Given the description of an element on the screen output the (x, y) to click on. 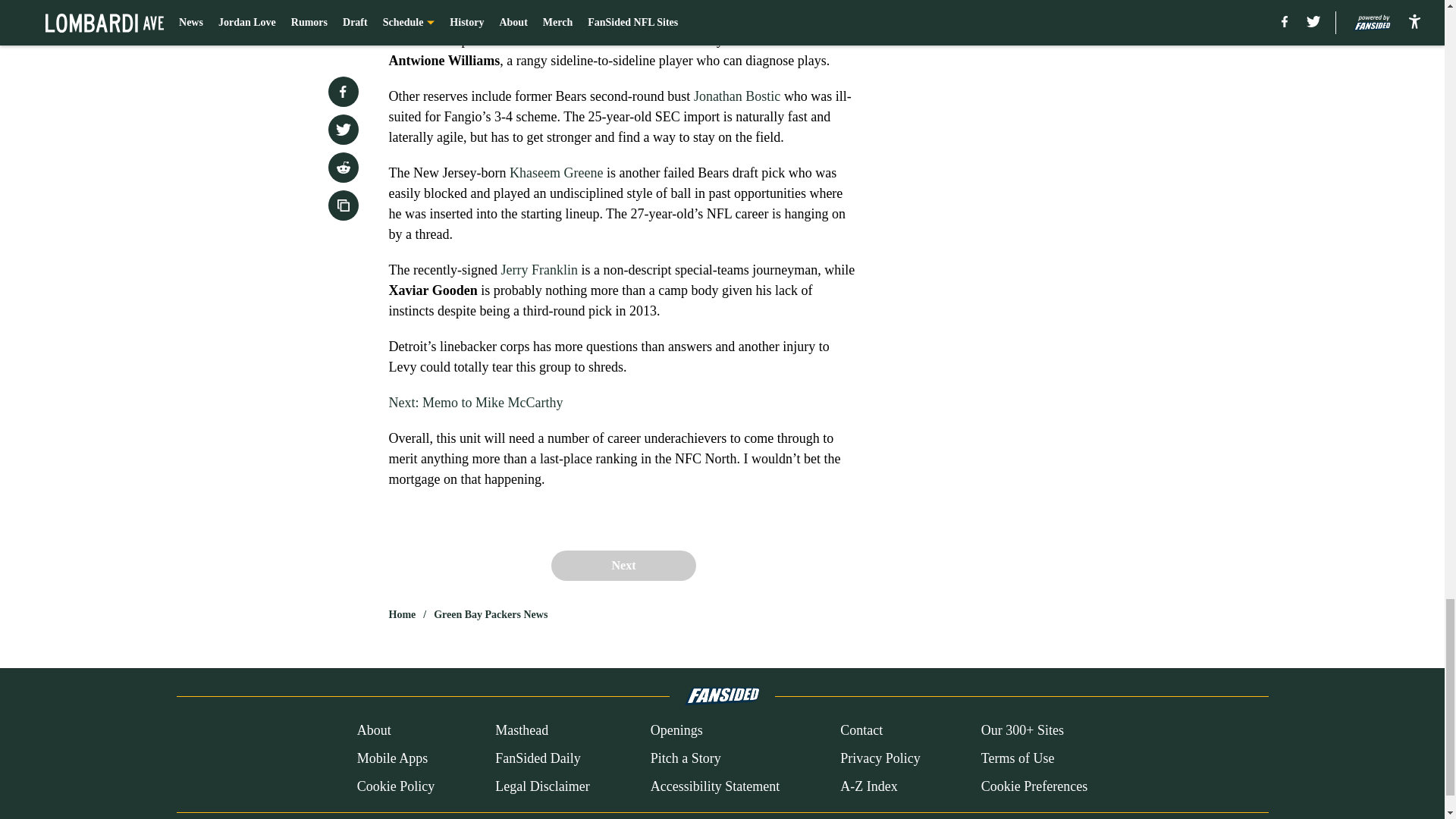
Openings (676, 730)
Masthead (521, 730)
About (373, 730)
Jerry Franklin (538, 269)
Jonathan Bostic (737, 96)
Home (401, 614)
Next: Memo to Mike McCarthy (475, 402)
Khaseem Greene (555, 172)
Green Bay Packers News (490, 614)
Next (622, 565)
